Given the description of an element on the screen output the (x, y) to click on. 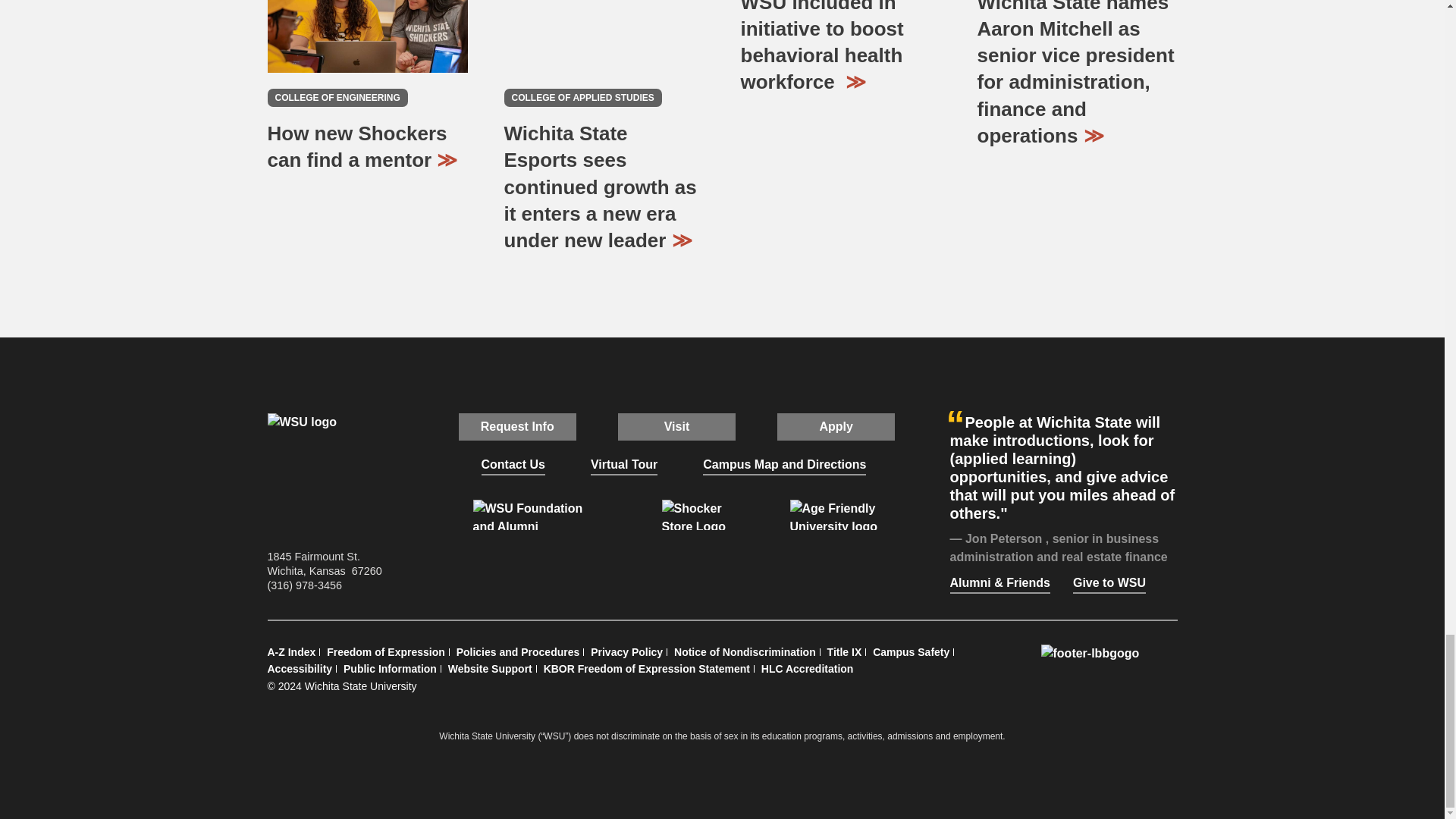
Instagram (675, 563)
Linkedin (745, 563)
Facebook (605, 563)
YouTube (710, 563)
